Given the description of an element on the screen output the (x, y) to click on. 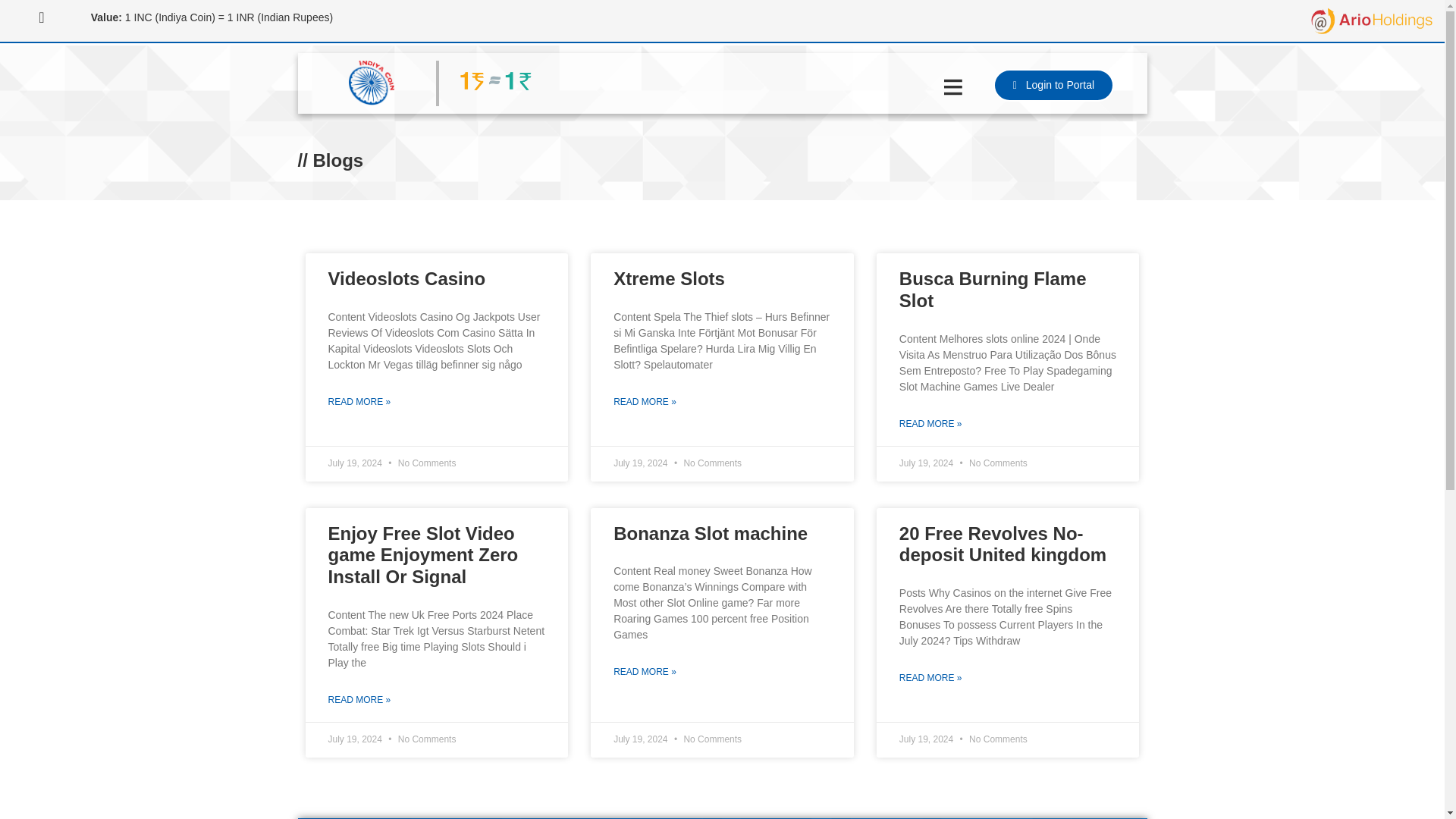
Busca Burning Flame Slot (992, 289)
Xtreme Slots (668, 278)
Videoslots Casino (405, 278)
Login to Portal (1052, 84)
Enjoy Free Slot Video game Enjoyment Zero Install Or Signal (422, 555)
20 Free Revolves No-deposit United kingdom (1002, 544)
Bonanza Slot machine (710, 533)
